Given the description of an element on the screen output the (x, y) to click on. 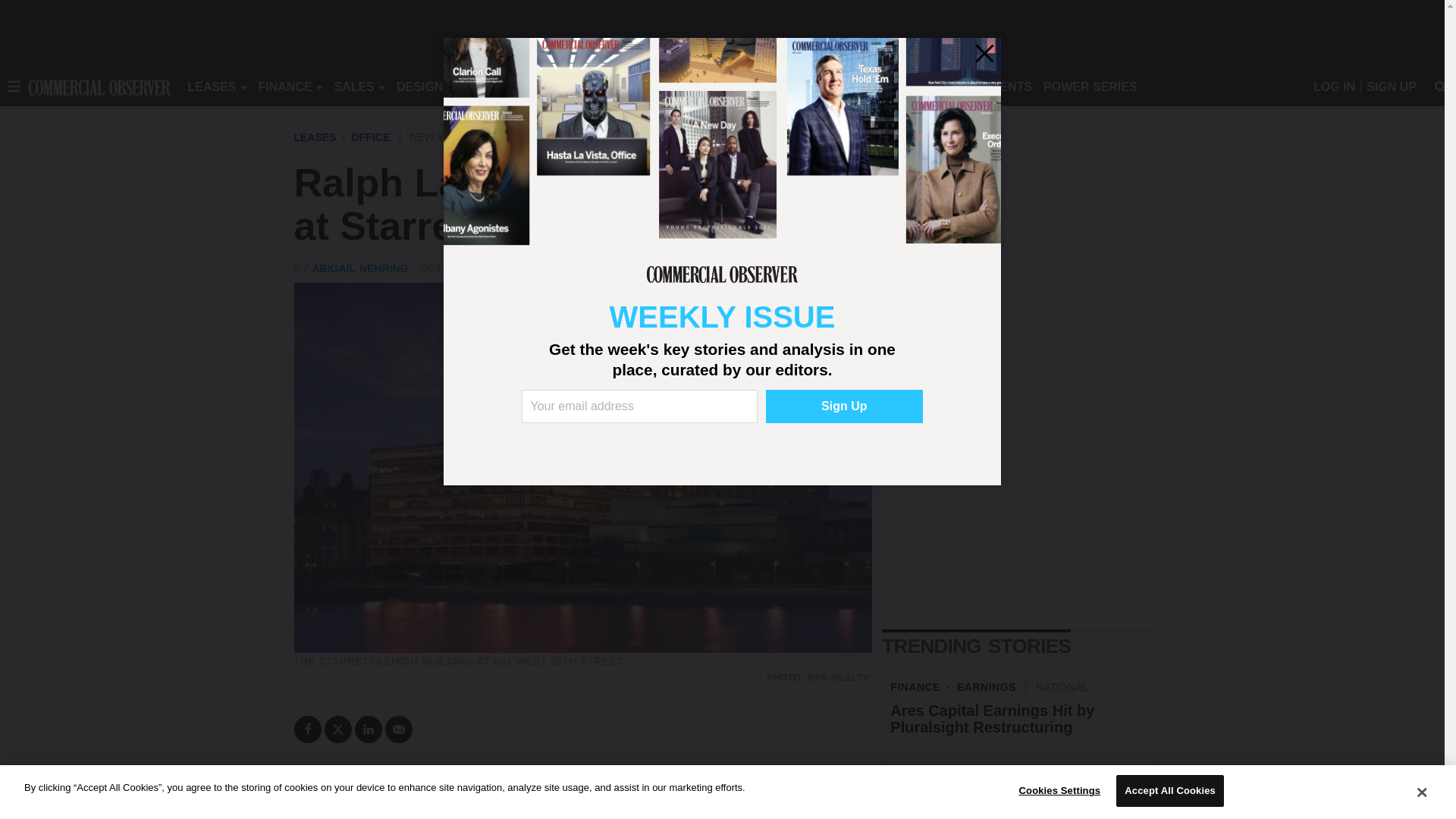
Share on Facebook (307, 728)
MORE (691, 86)
Send email (398, 728)
TECHNOLOGY (619, 86)
Posts by Abigail Nehring (359, 268)
Share on LinkedIn (368, 728)
LEASES (211, 86)
Commercial Observer Home (98, 86)
Tweet (338, 728)
FINANCE (286, 86)
SALES (354, 86)
